Given the description of an element on the screen output the (x, y) to click on. 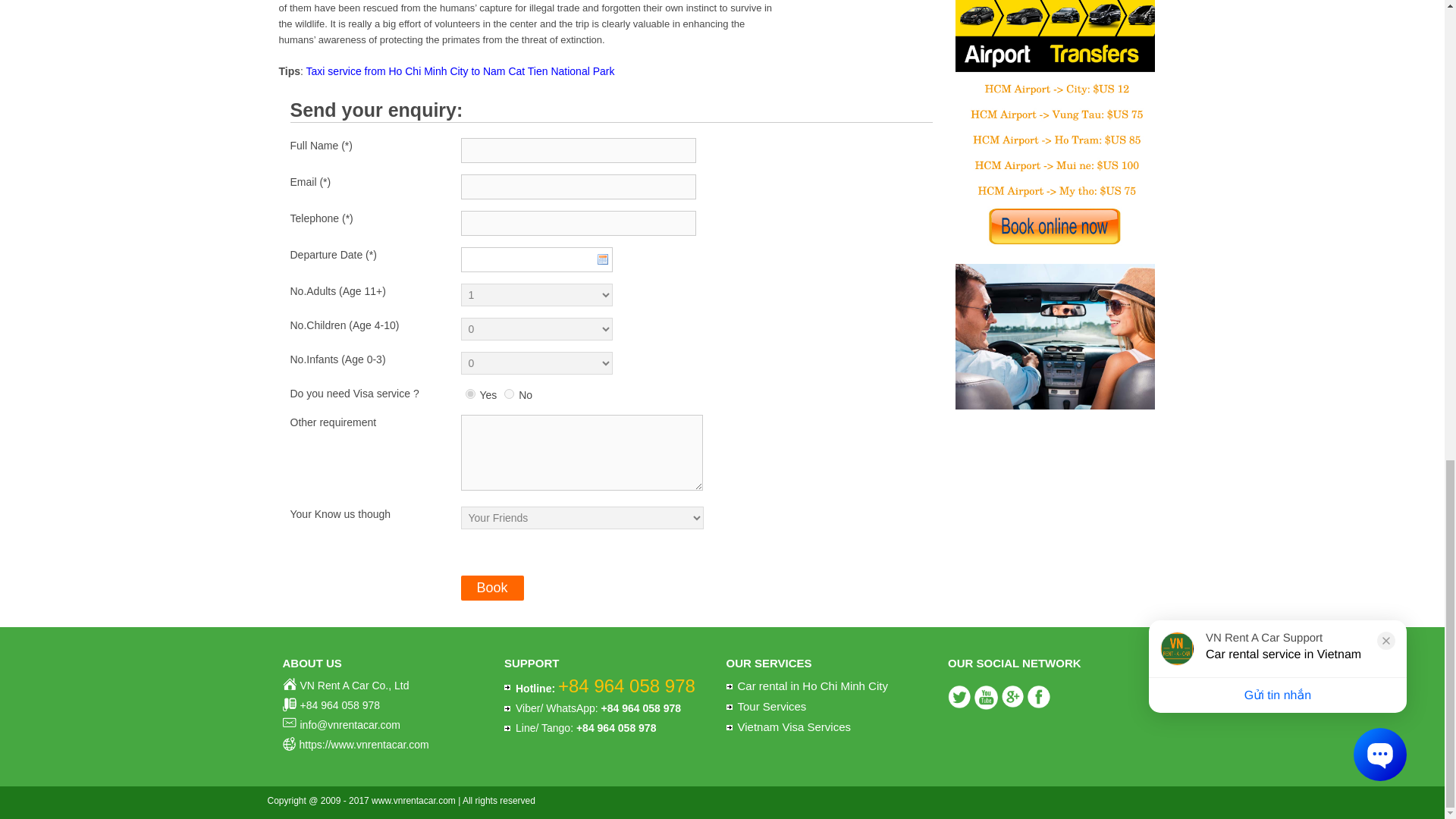
Yes (470, 393)
No (508, 393)
